Given the description of an element on the screen output the (x, y) to click on. 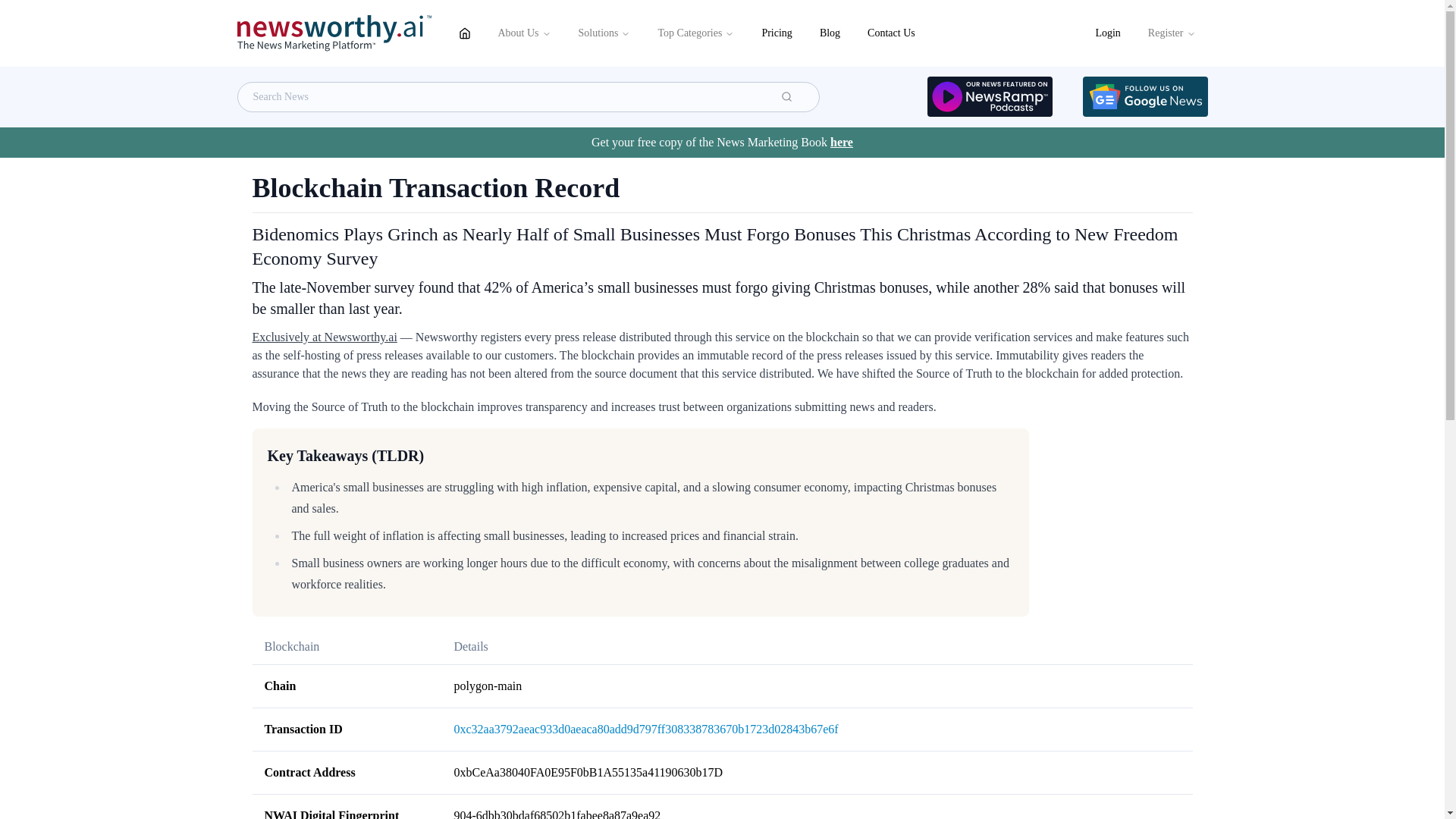
Pricing (776, 33)
Top Categories (695, 33)
Login (1107, 33)
About Us (523, 33)
Contact Us (891, 33)
here (841, 141)
Solutions (604, 33)
homepage (463, 33)
Blog (829, 33)
Register (1171, 33)
